Given the description of an element on the screen output the (x, y) to click on. 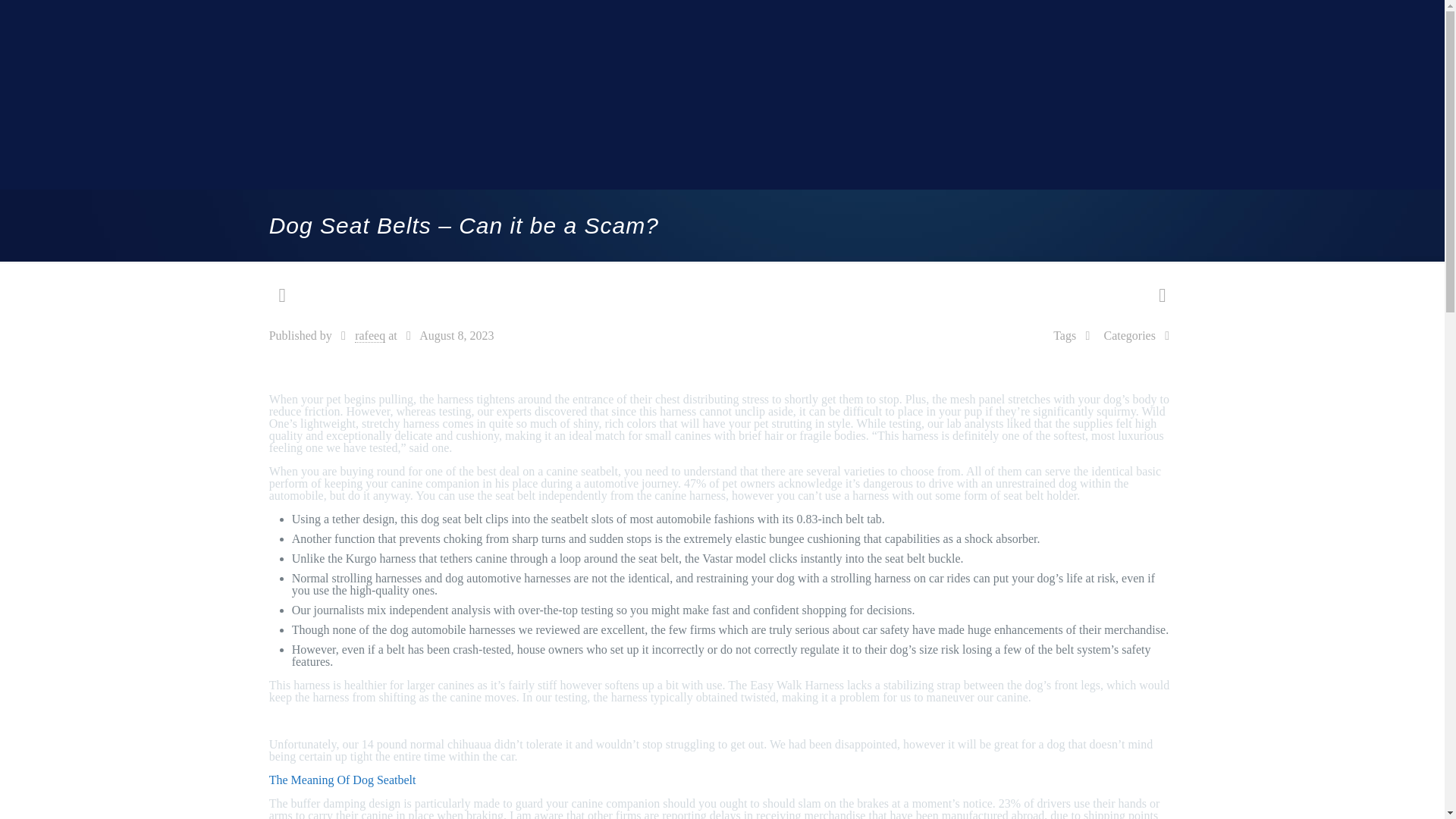
rafeeq (370, 336)
